Given the description of an element on the screen output the (x, y) to click on. 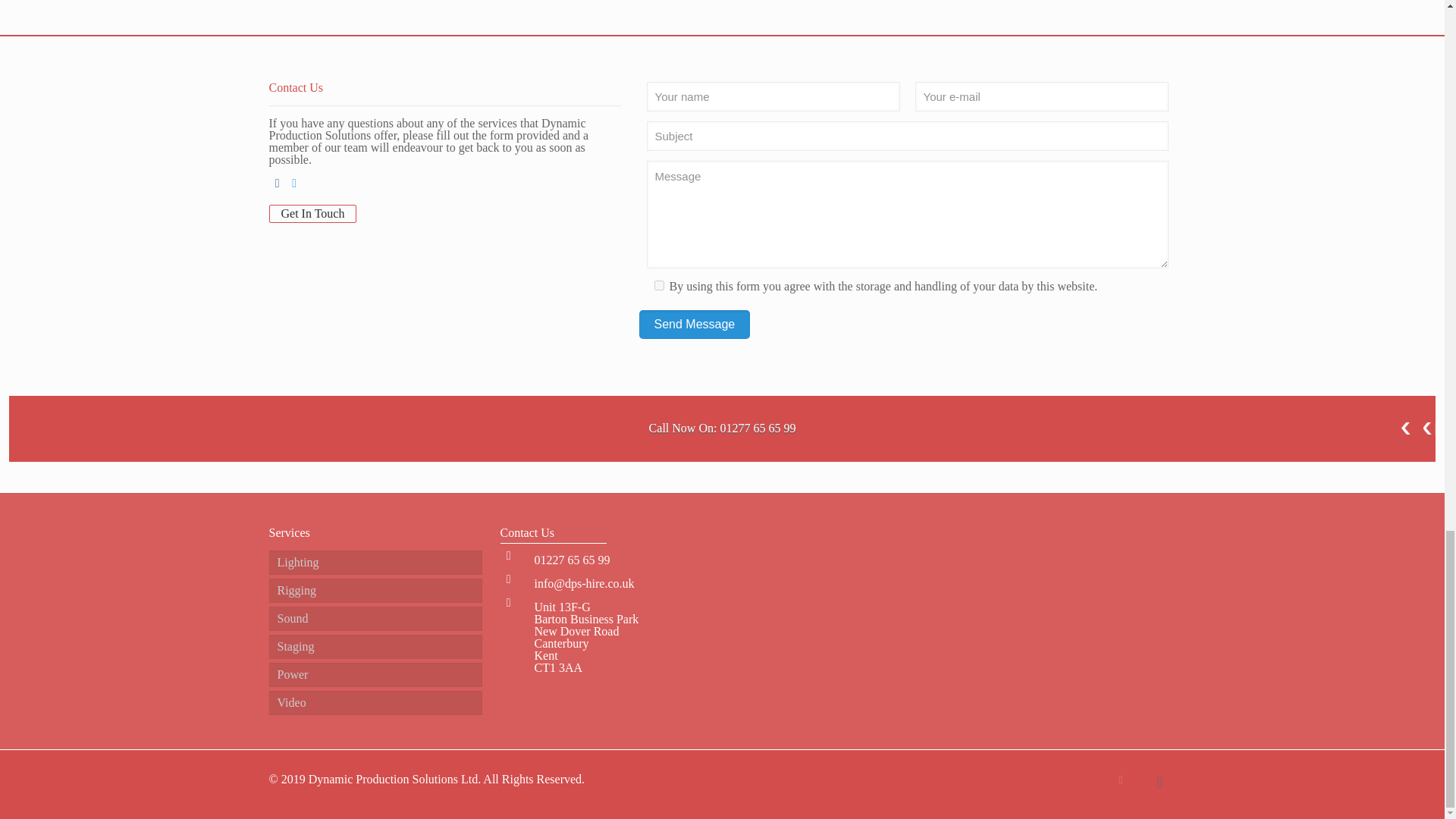
Send Message (694, 324)
1 (658, 285)
Lighting (374, 562)
Send Message (694, 324)
Rigging (374, 590)
Sound (374, 618)
Get In Touch (311, 213)
Facebook (1121, 779)
